Given the description of an element on the screen output the (x, y) to click on. 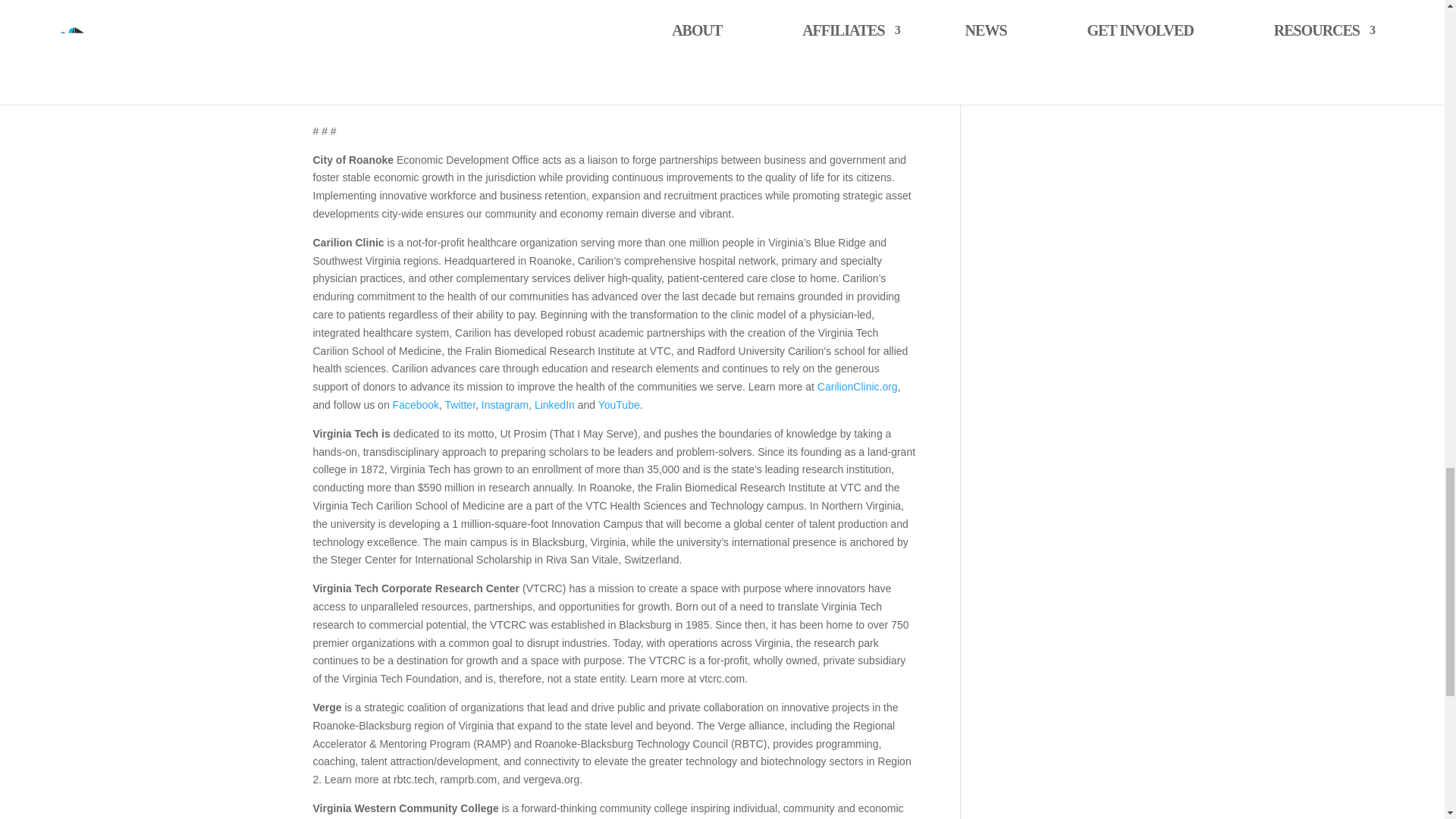
Facebook (416, 404)
Roanokeva.gov Civic Alerts: Feb 14 (407, 16)
CarilionClinic.org (857, 386)
WFIR Radio: Feb 14 (371, 55)
Cardinal News, Feb. 15 (378, 75)
Twitter (460, 404)
The Roanoke Times: Feb 14 (390, 1)
YouTube (619, 404)
LinkedIn (554, 404)
Instagram (504, 404)
